Given the description of an element on the screen output the (x, y) to click on. 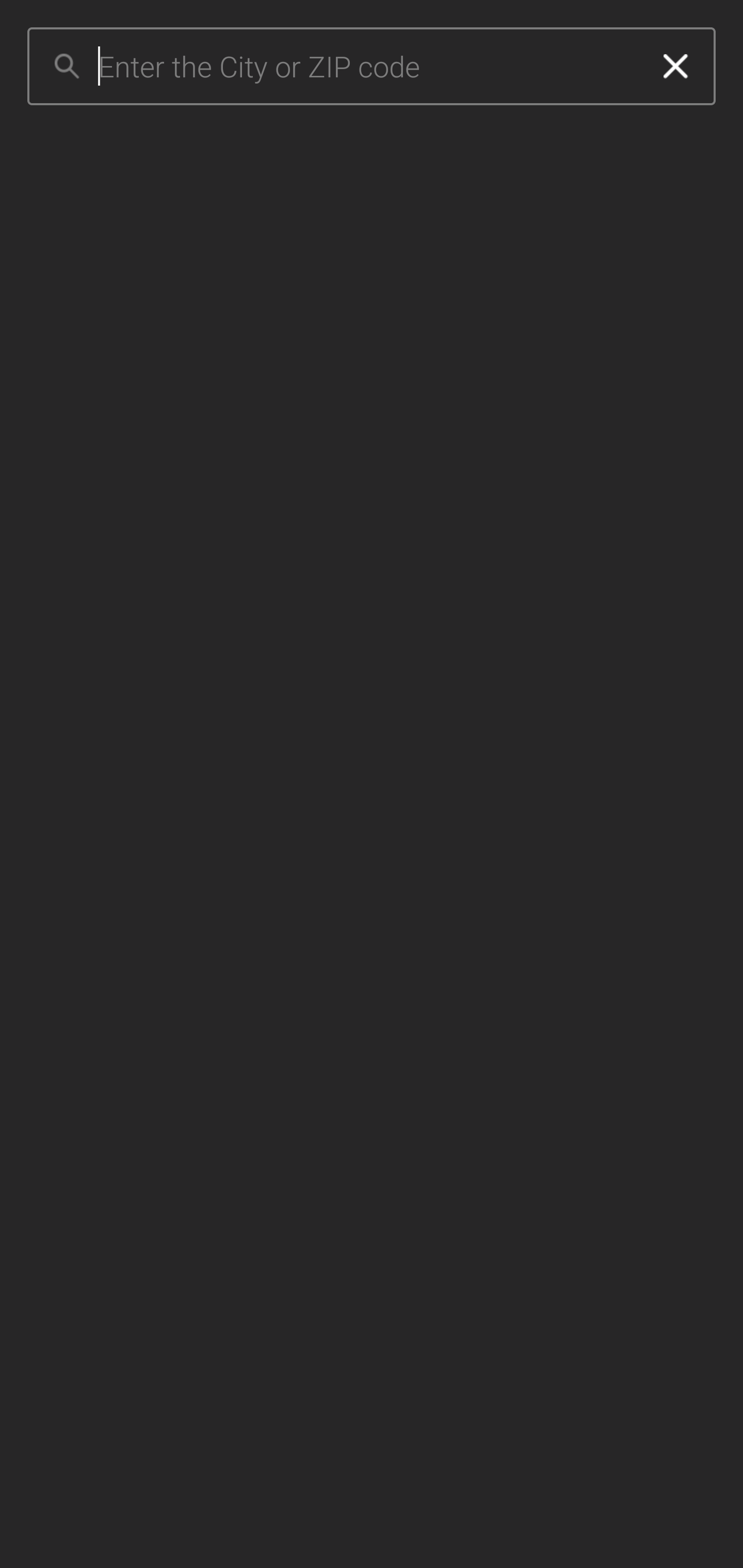
Enter the City or ZIP code (367, 66)
